Given the description of an element on the screen output the (x, y) to click on. 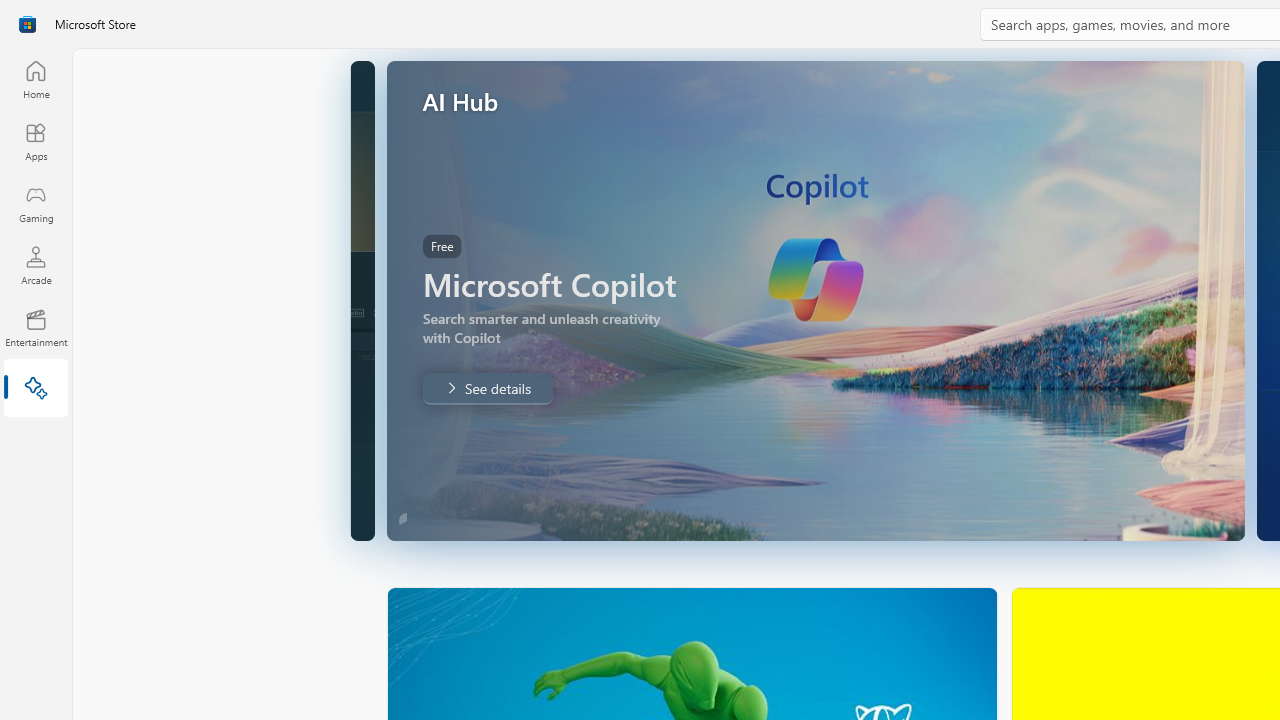
Home (35, 79)
AI Hub (35, 390)
Arcade (35, 265)
Unmute (355, 512)
Gaming (35, 203)
Class: Image (27, 24)
Apps (35, 141)
AutomationID: Image (815, 300)
Entertainment (35, 327)
